Given the description of an element on the screen output the (x, y) to click on. 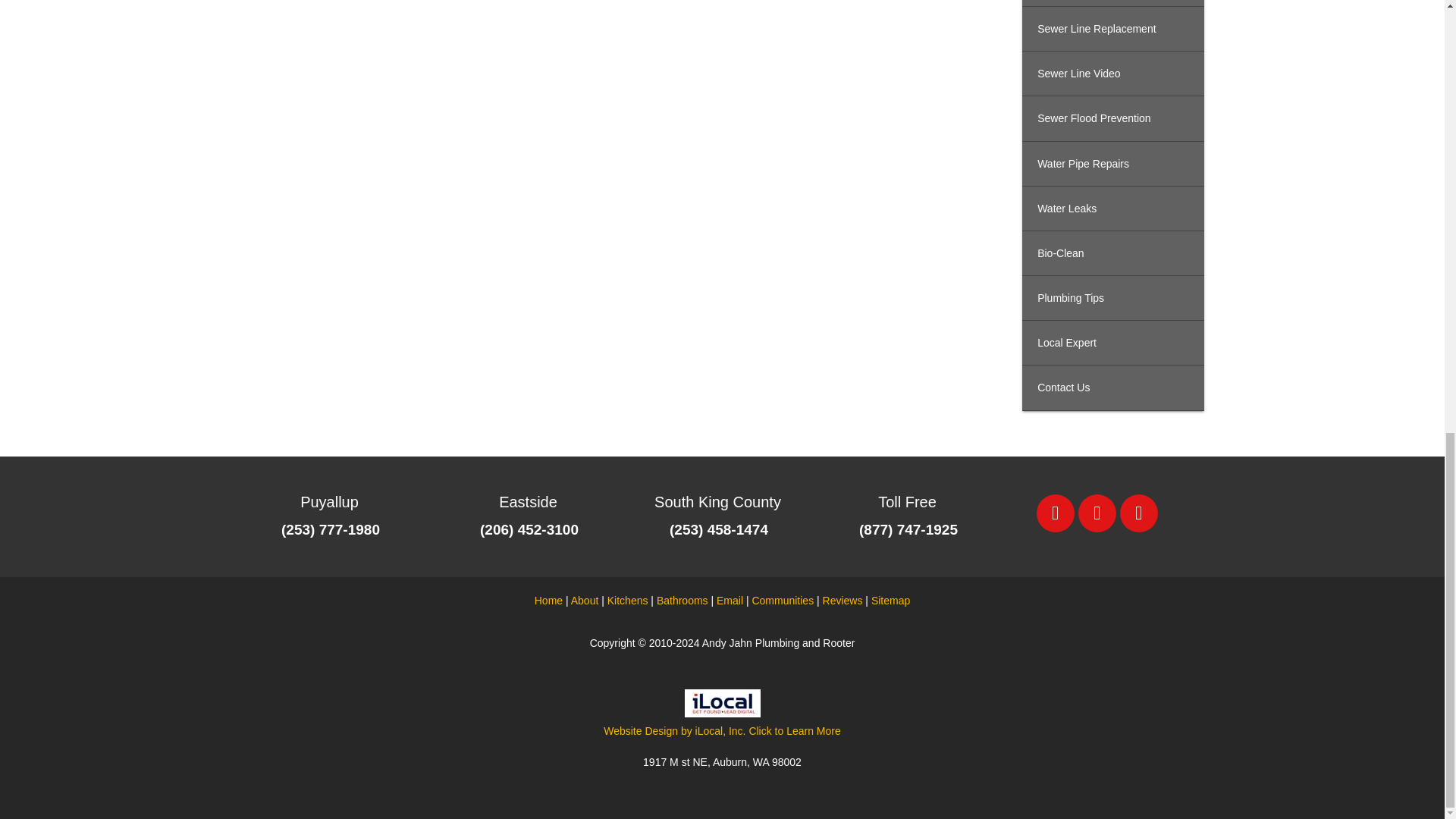
Gas Lines (1113, 3)
Sewer Line Video (1113, 73)
Plumbing Tips (1113, 298)
Contact Us (1113, 387)
Water Leaks (1113, 208)
Water Pipe Repairs (1113, 163)
Bio-Clean (1113, 253)
Local Expert (1113, 343)
Sewer Flood Prevention (1113, 118)
Sewer Line Replacement (1113, 28)
